Given the description of an element on the screen output the (x, y) to click on. 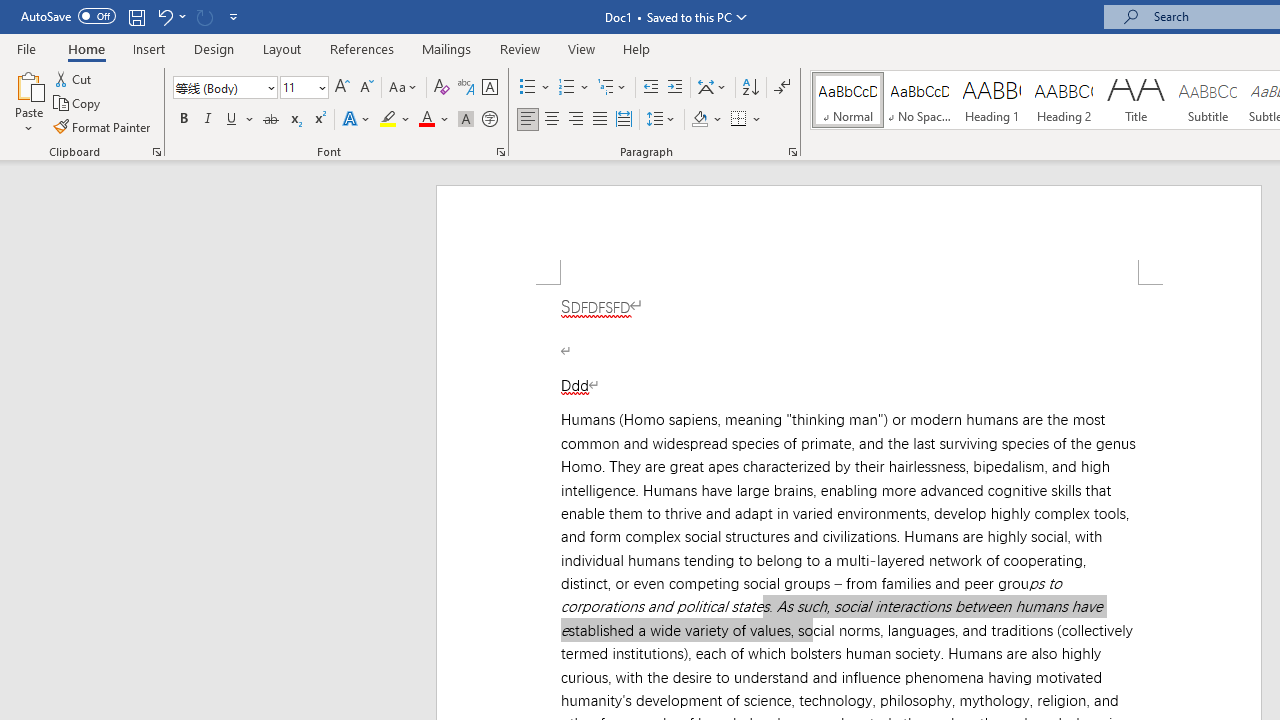
Cut (73, 78)
Can't Repeat (204, 15)
Underline (239, 119)
Paste (28, 84)
File Tab (26, 48)
Text Highlight Color (395, 119)
Numbering (573, 87)
Title (1135, 100)
Character Border (489, 87)
Font (224, 87)
Mailings (447, 48)
AutoSave (68, 16)
Subtitle (1208, 100)
Open (320, 87)
